Given the description of an element on the screen output the (x, y) to click on. 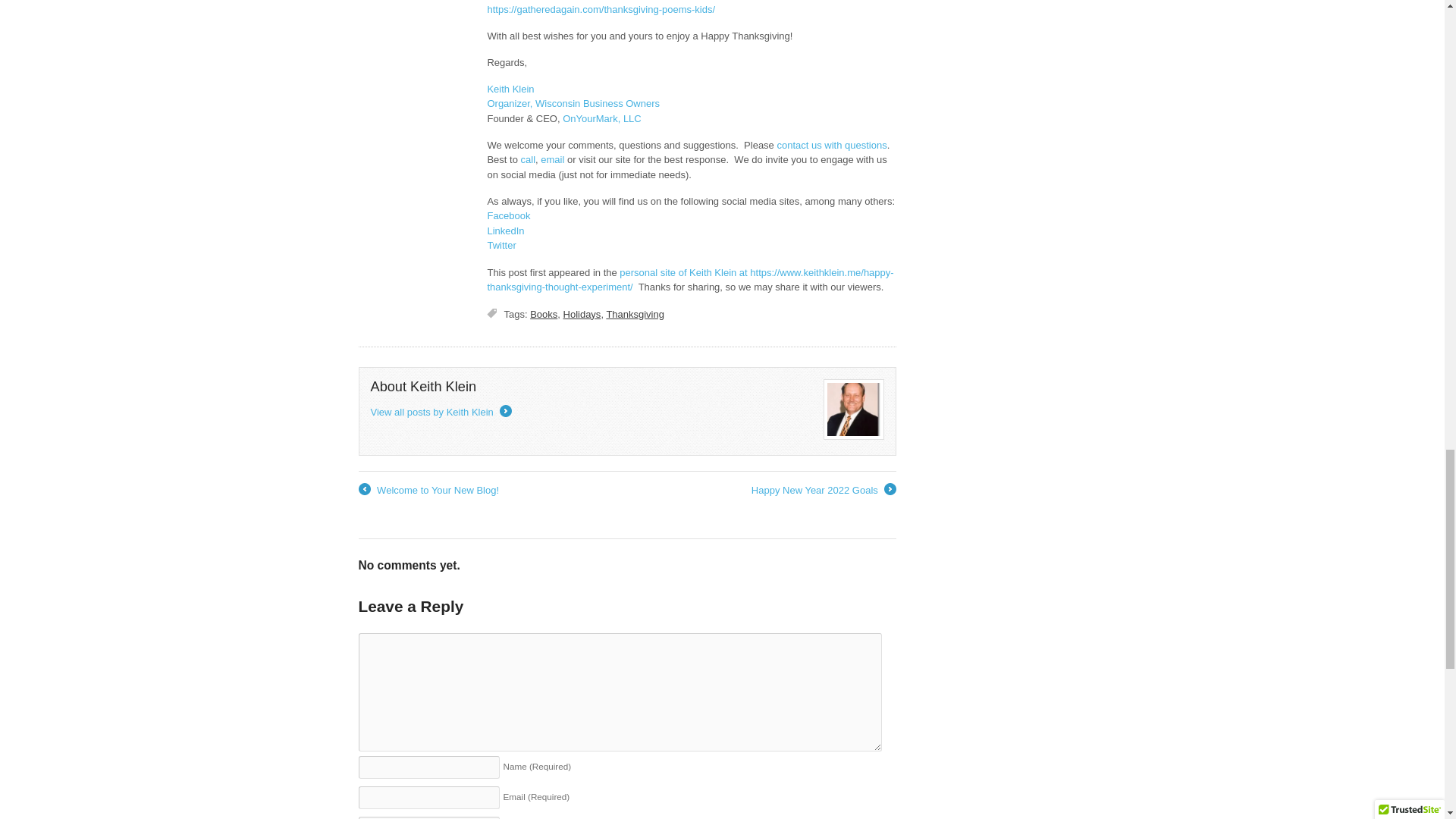
Facebook (507, 215)
Keith Klein (510, 89)
OnYourMark, LLC (602, 118)
LinkedIn (505, 230)
Organizer, Wisconsin Business Owners (572, 102)
call (528, 159)
email (552, 159)
Twitter (500, 244)
contact us with questions (831, 144)
